Given the description of an element on the screen output the (x, y) to click on. 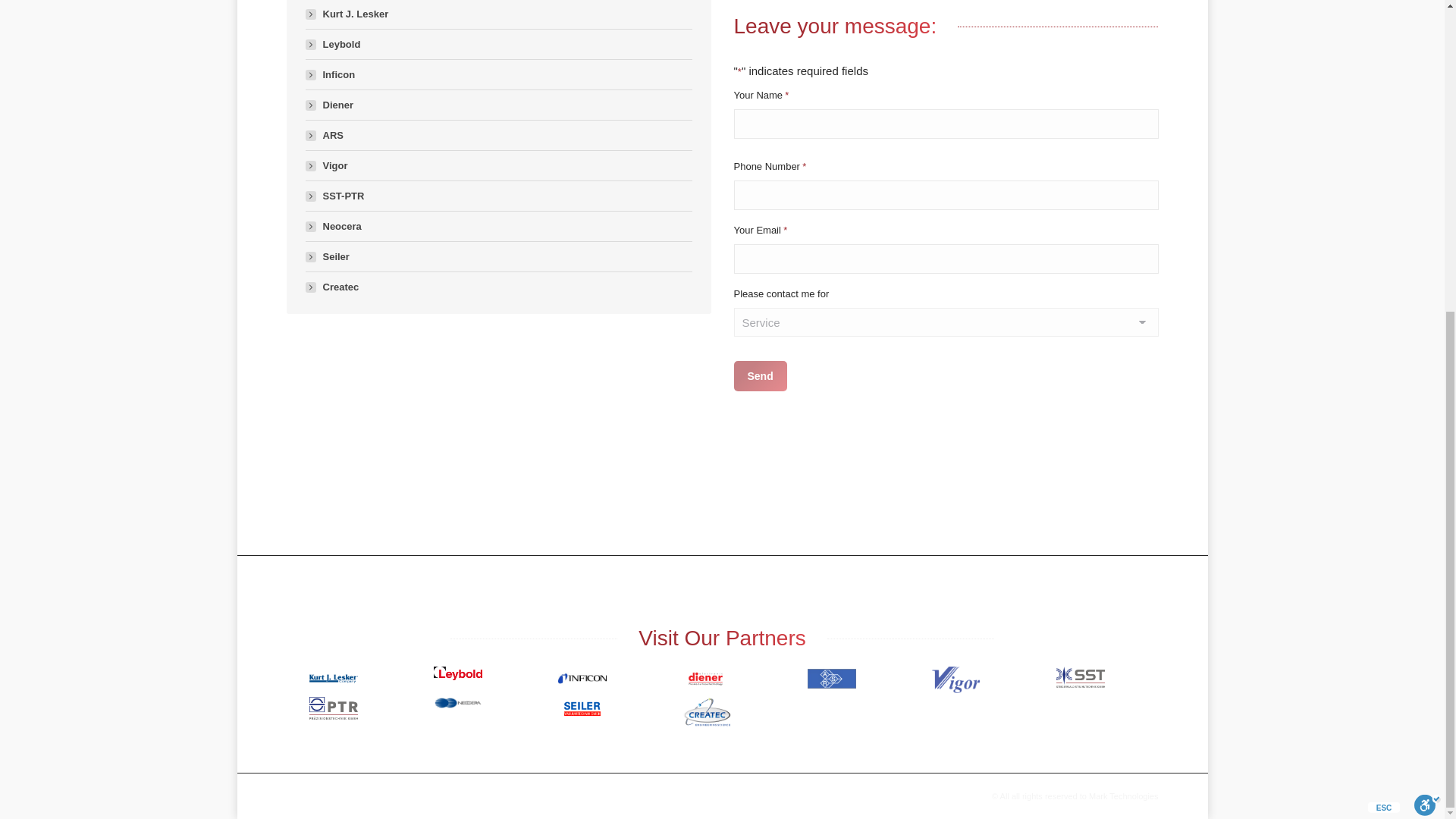
Send (760, 376)
